Given the description of an element on the screen output the (x, y) to click on. 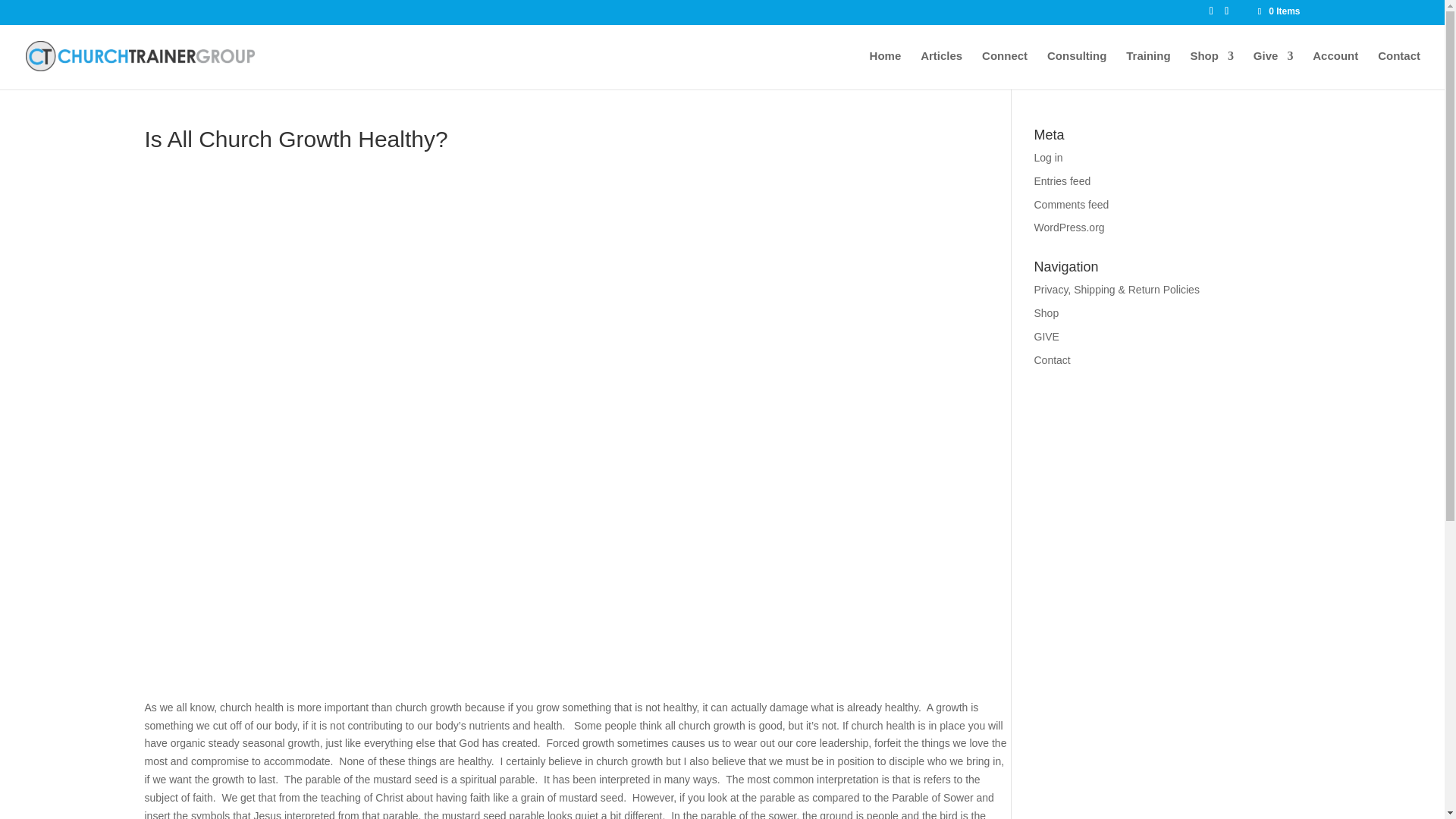
Shop (1046, 313)
WordPress.org (1069, 227)
Articles (941, 69)
Give (1273, 69)
Training (1147, 69)
Connect (1004, 69)
GIVE (1046, 336)
0 Items (1277, 10)
Contact (1399, 69)
Comments feed (1071, 204)
